Given the description of an element on the screen output the (x, y) to click on. 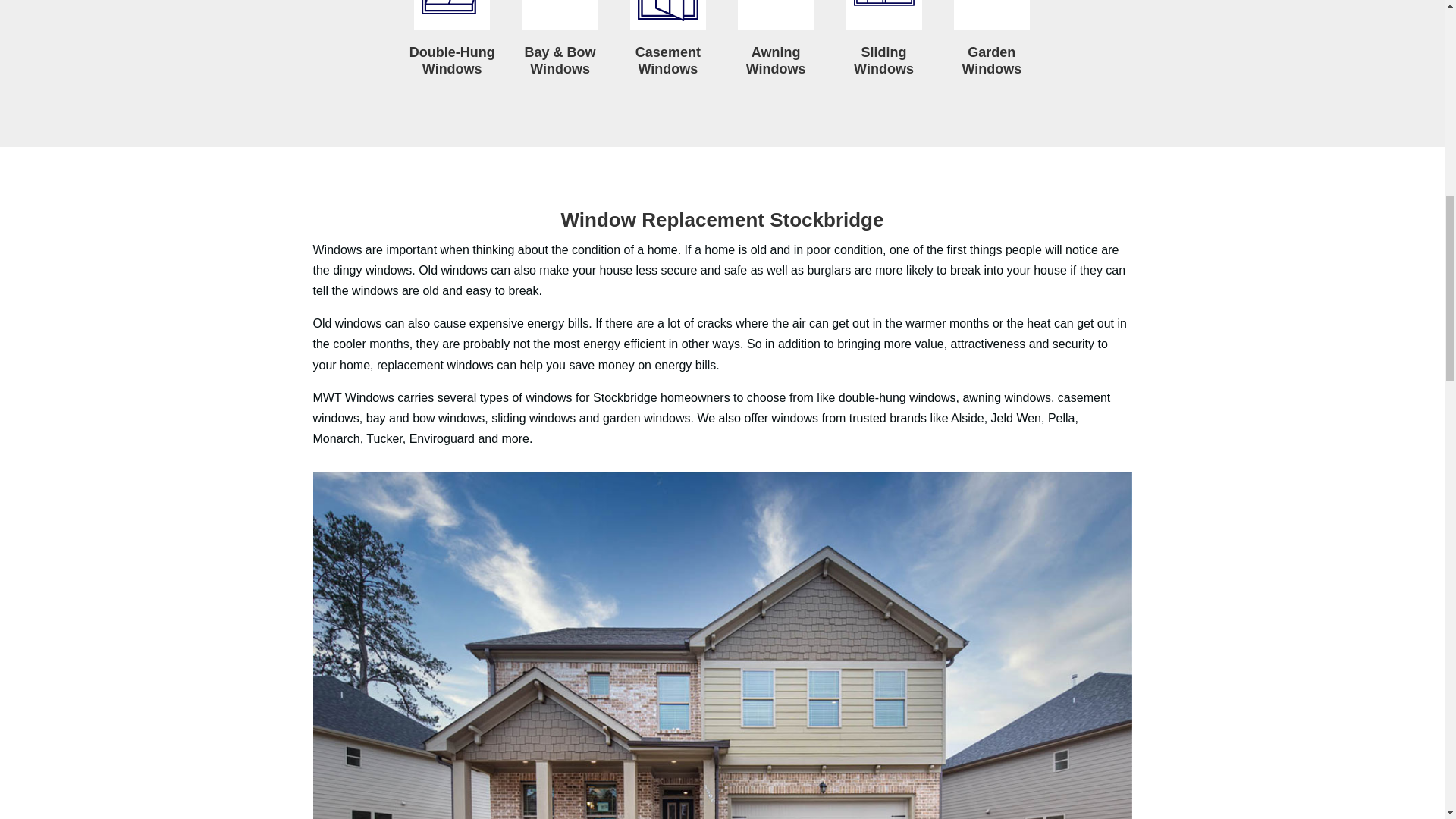
Garden Windows (991, 14)
Casement Windows (668, 14)
Double-Hung Windows (451, 14)
Awning Windows (775, 14)
Sliding Windows (883, 14)
